Given the description of an element on the screen output the (x, y) to click on. 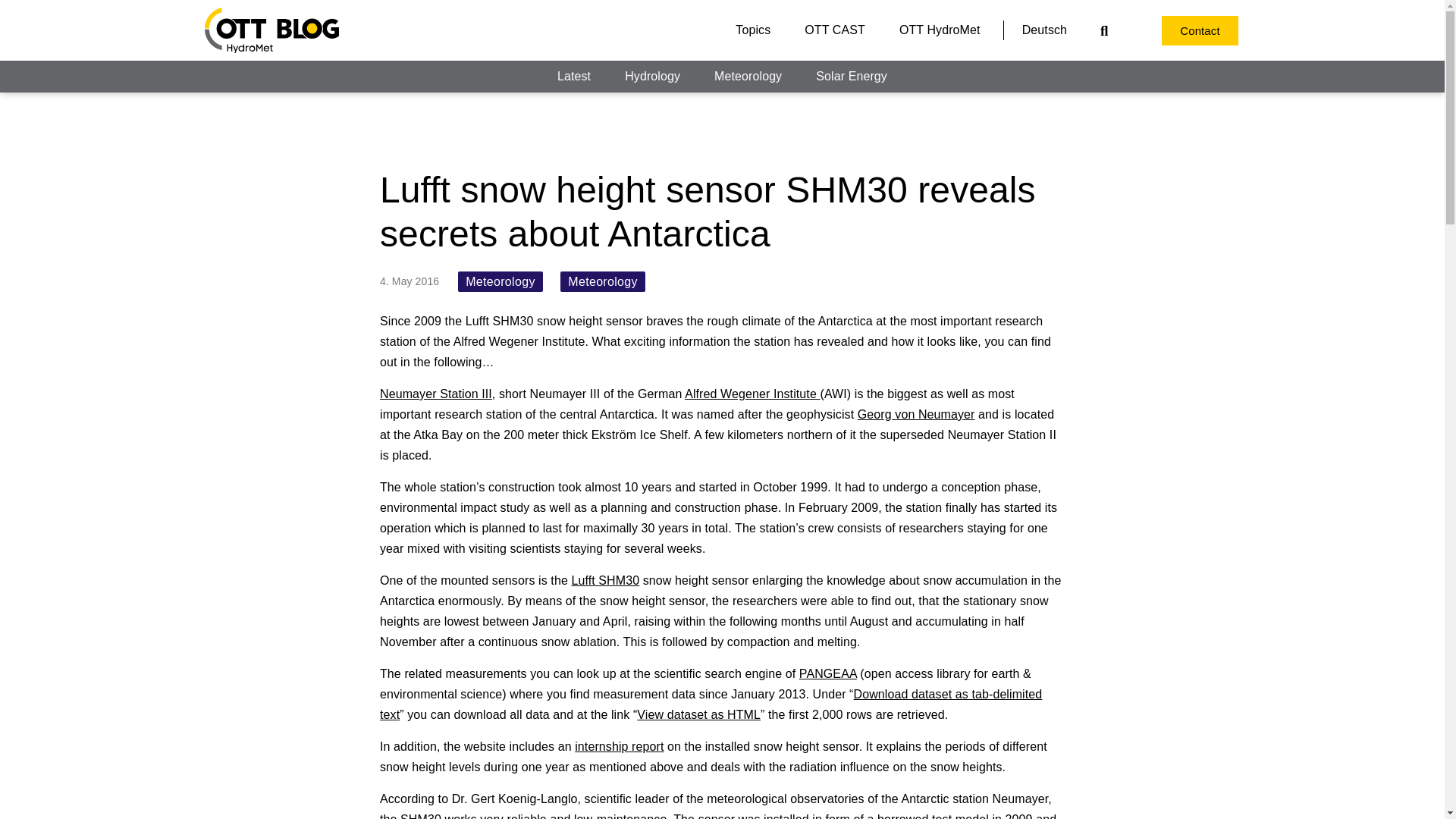
OTT CAST (834, 30)
Contact (1199, 30)
Latest (573, 76)
Deutsch (1044, 29)
Deutsch (1044, 29)
Meteorology (748, 76)
Solar Energy (851, 76)
OTT HydroMet (939, 30)
Hydrology (652, 76)
Topics (753, 30)
